Given the description of an element on the screen output the (x, y) to click on. 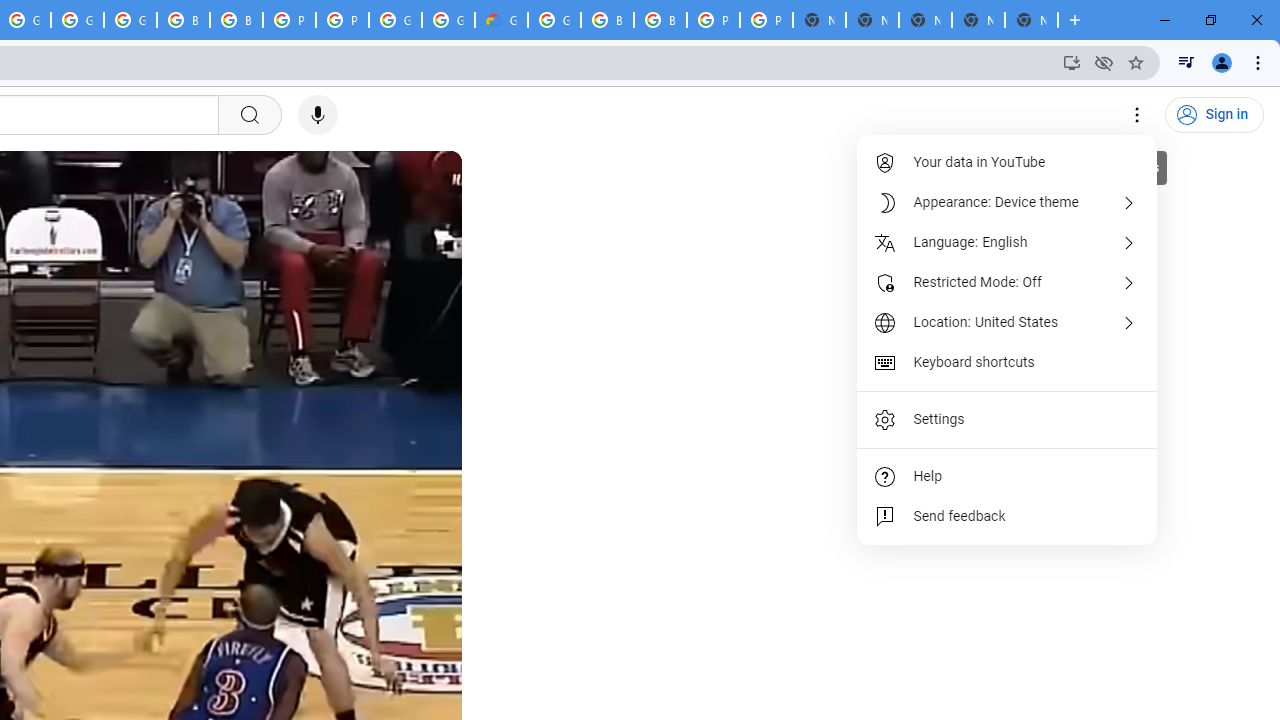
Your data in YouTube (1007, 162)
Google Cloud Estimate Summary (501, 20)
Send feedback (1007, 516)
Google Cloud Platform (554, 20)
Browse Chrome as a guest - Computer - Google Chrome Help (183, 20)
Settings Settings (1137, 115)
